Given the description of an element on the screen output the (x, y) to click on. 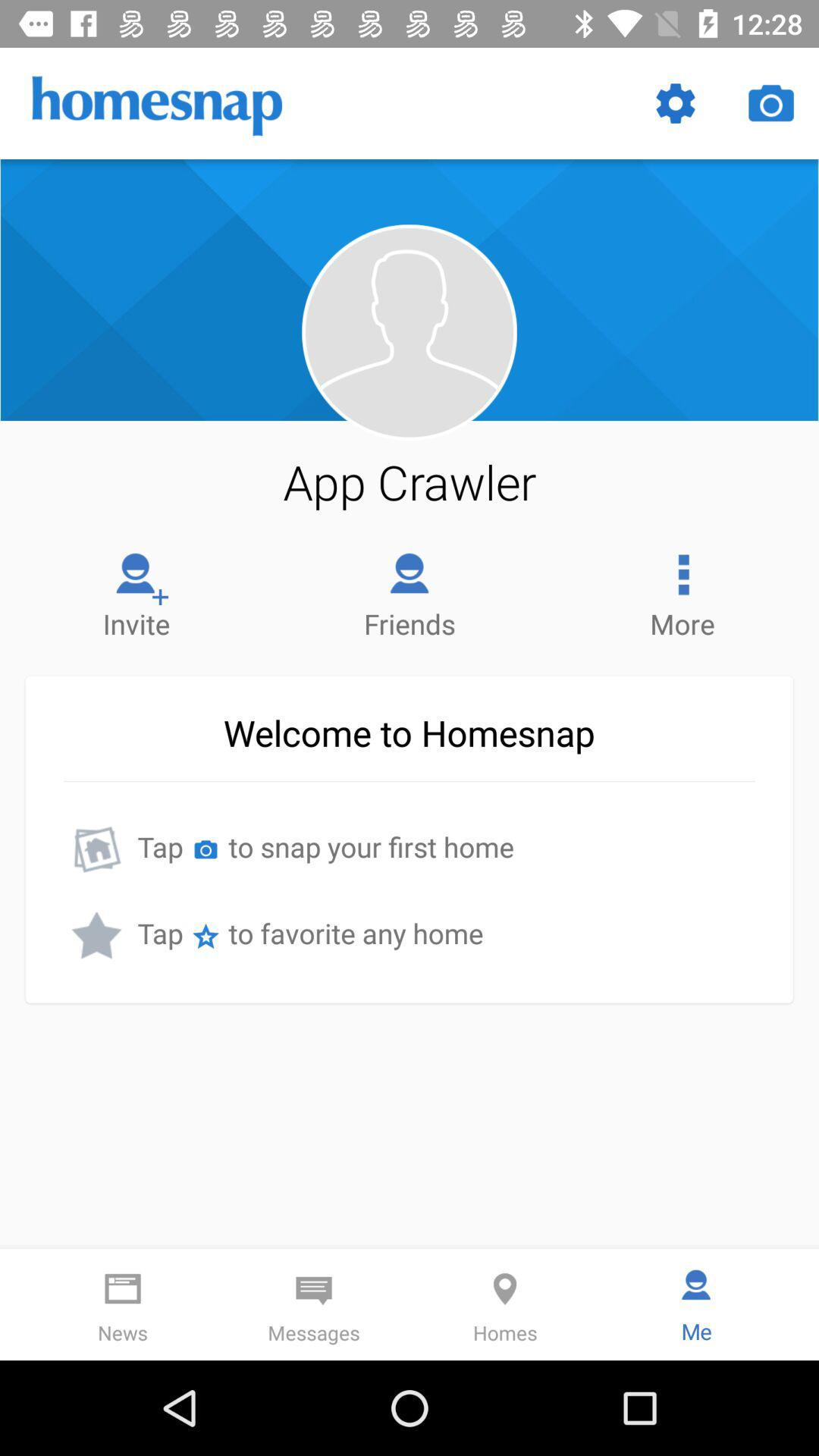
turn on icon next to the friends (682, 591)
